Given the description of an element on the screen output the (x, y) to click on. 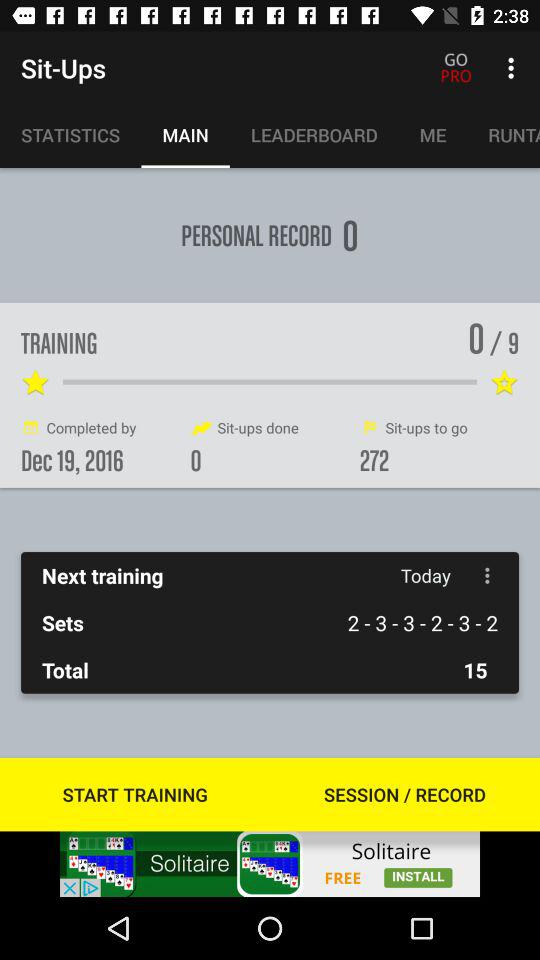
more options (487, 575)
